Given the description of an element on the screen output the (x, y) to click on. 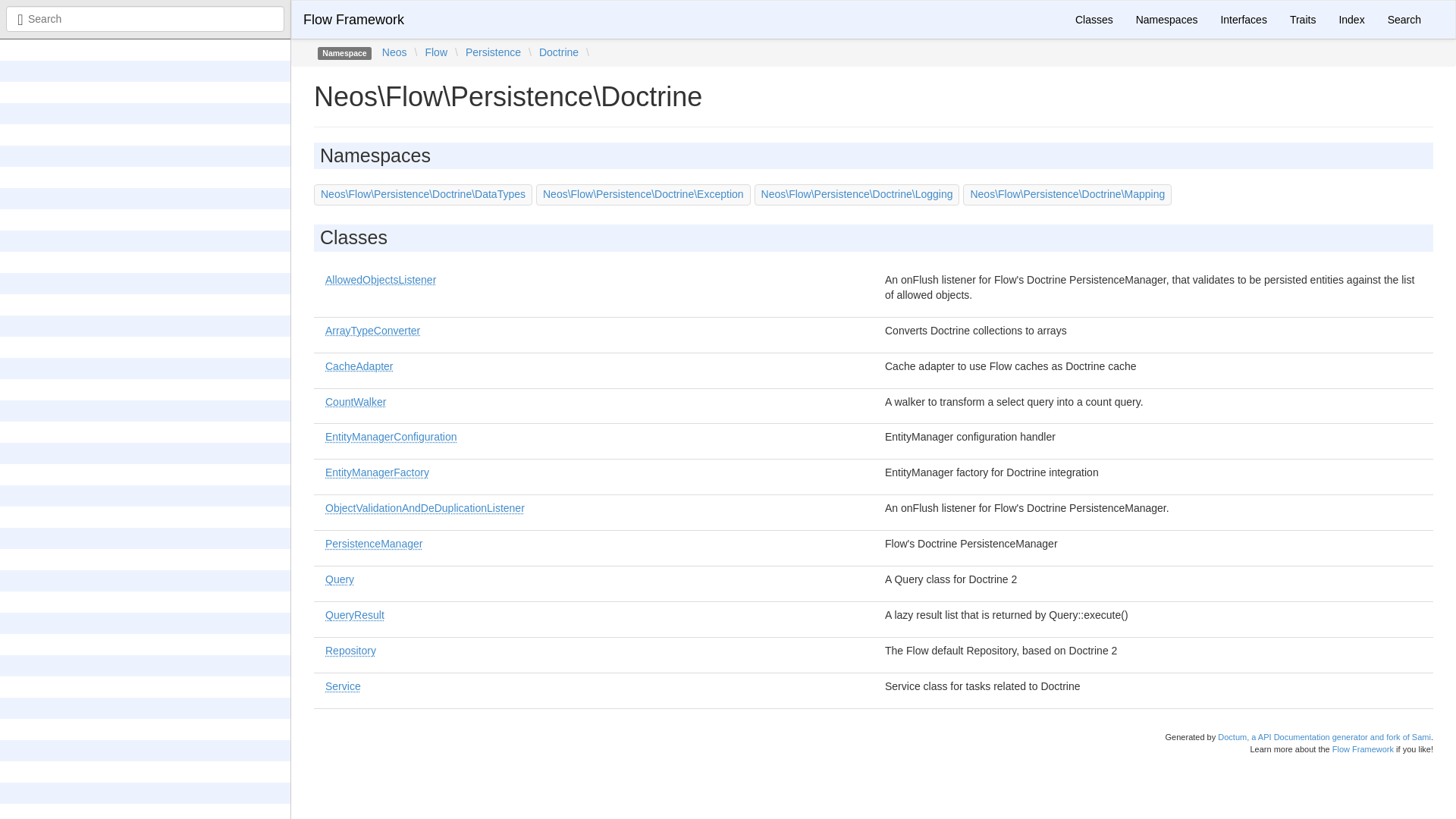
Index (1350, 19)
Classes (1094, 19)
Doctrine (558, 51)
Persistence (493, 51)
EntityManagerConfiguration (390, 436)
AllowedObjectsListener (379, 279)
Flow (435, 51)
Neos (394, 51)
PersistenceManager (373, 543)
Service (342, 686)
Interfaces (1243, 19)
ArrayTypeConverter (372, 330)
EntityManagerFactory (376, 472)
Flow Framework (353, 19)
CountWalker (354, 401)
